Given the description of an element on the screen output the (x, y) to click on. 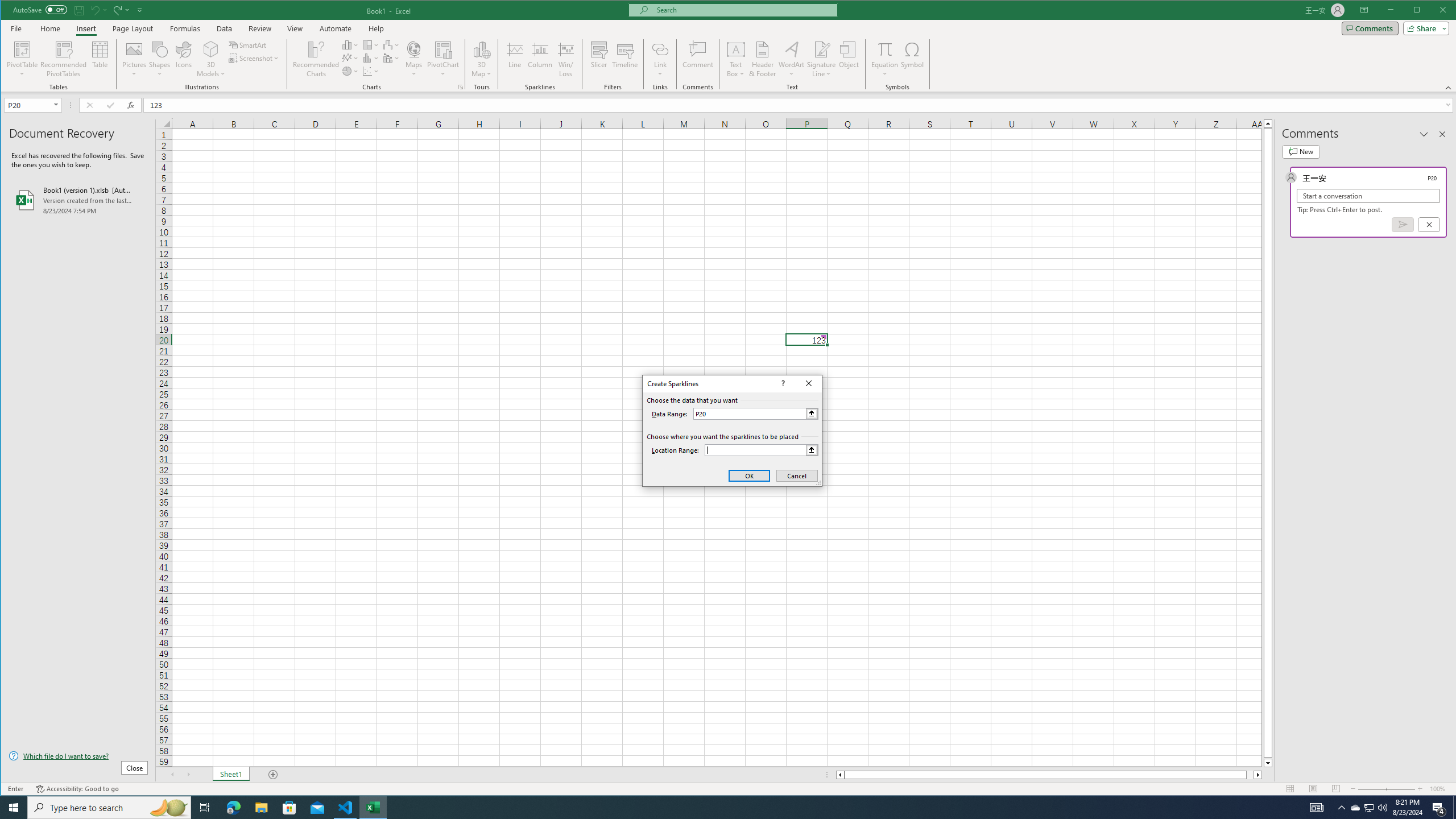
Action Center, 4 new notifications (1439, 807)
3D Map (481, 59)
Slicer... (598, 59)
Recommended PivotTables (63, 59)
PivotChart (443, 59)
